Given the description of an element on the screen output the (x, y) to click on. 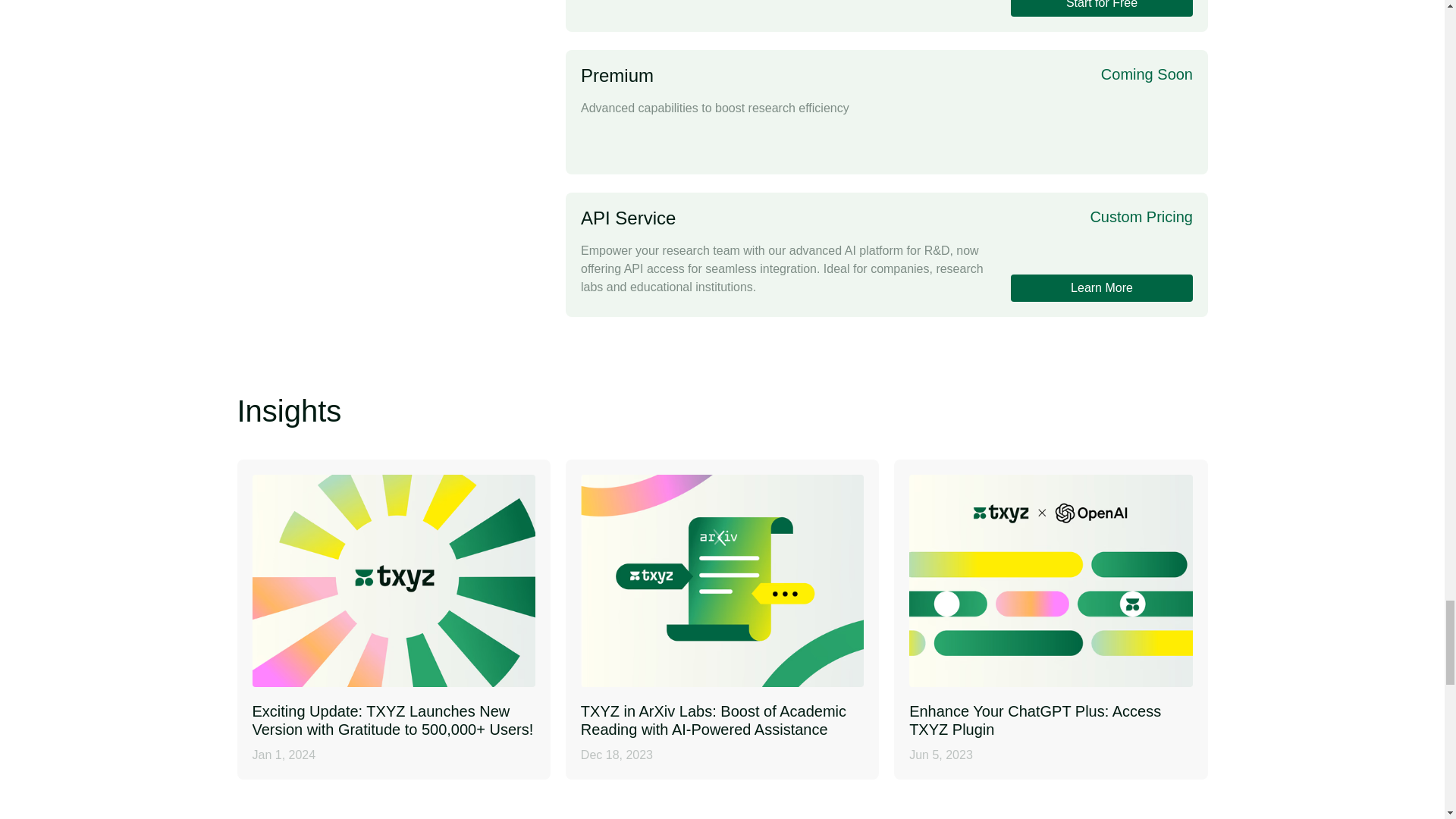
Learn More (1101, 288)
Start for Free (1050, 619)
